Given the description of an element on the screen output the (x, y) to click on. 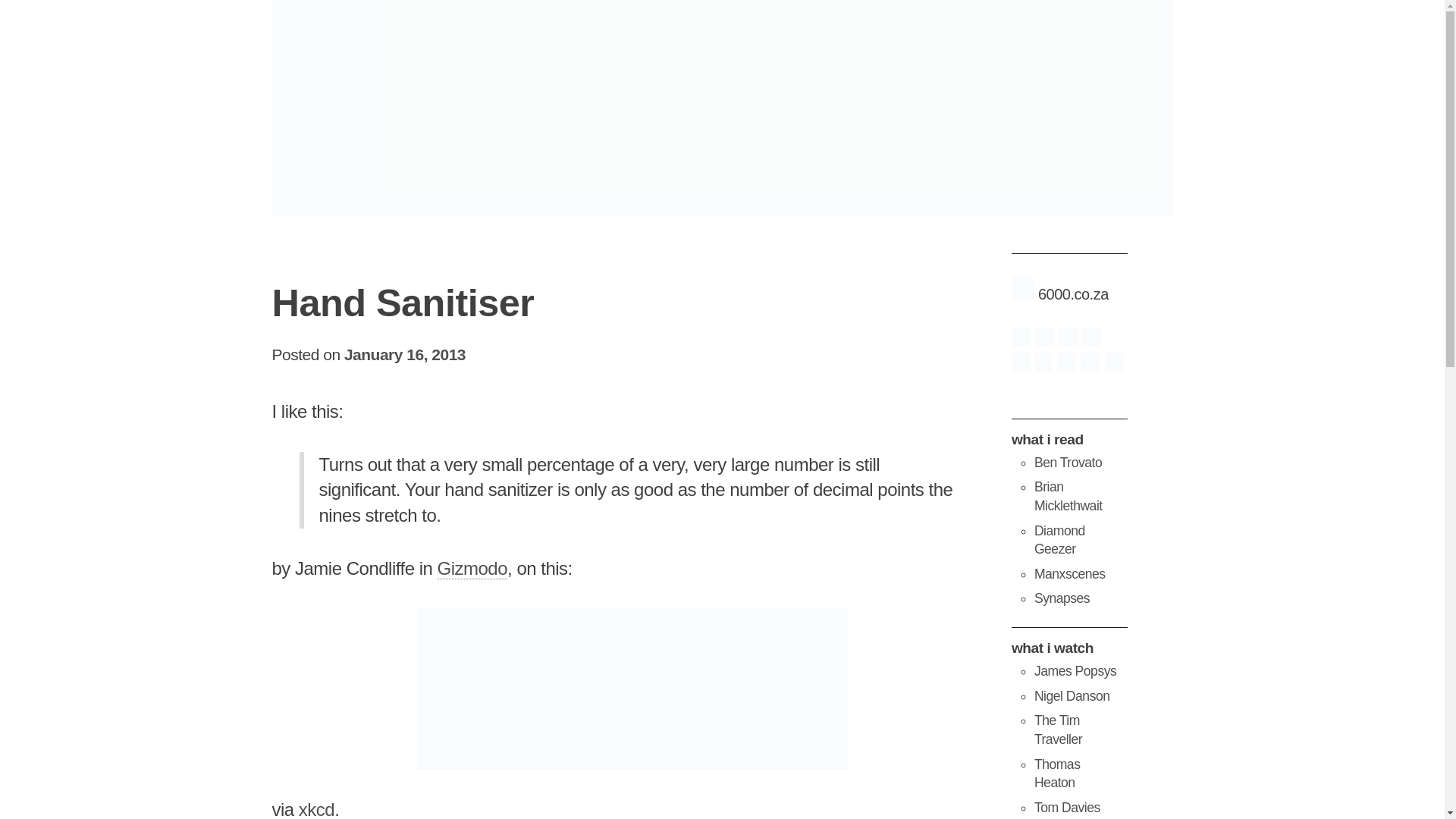
Link (473, 568)
jacques talks mostly sense (1061, 598)
UK landscape photographer (1071, 695)
Photography advice from the UK (1074, 670)
Gizmodo (473, 568)
Daily tales of London (1058, 540)
Manxscenes (1069, 573)
Diamond Geezer (1058, 540)
Brian Micklethwait (1067, 496)
January 16, 2013 (404, 354)
